Given the description of an element on the screen output the (x, y) to click on. 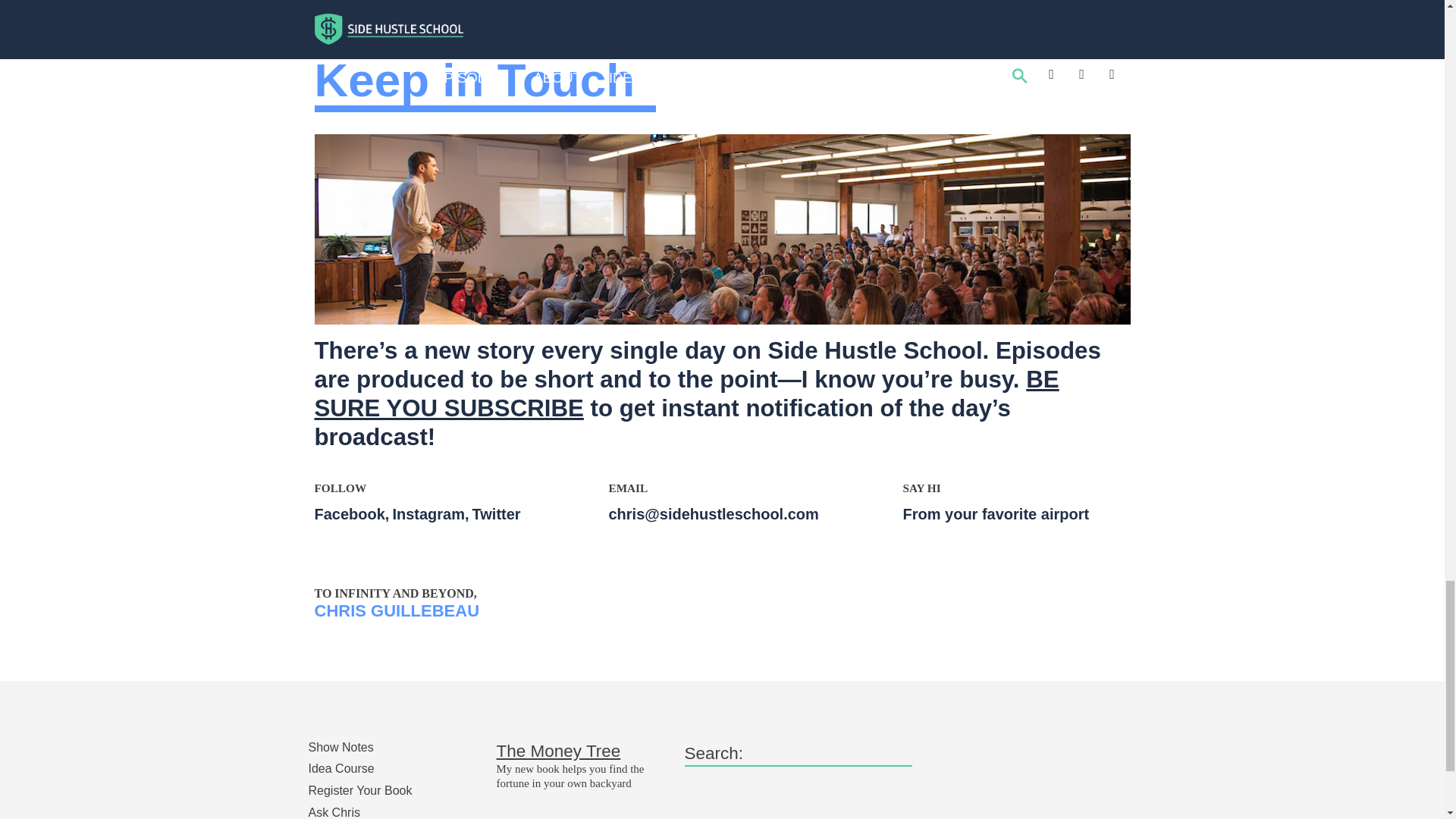
Show Notes (339, 747)
Idea Course (340, 768)
Ask Chris (333, 812)
BE SURE YOU SUBSCRIBE (686, 393)
From your favorite airport (997, 514)
Register Your Book (359, 789)
The Money Tree (558, 751)
Instagram, (431, 514)
Twitter (497, 514)
Facebook, (352, 514)
